Given the description of an element on the screen output the (x, y) to click on. 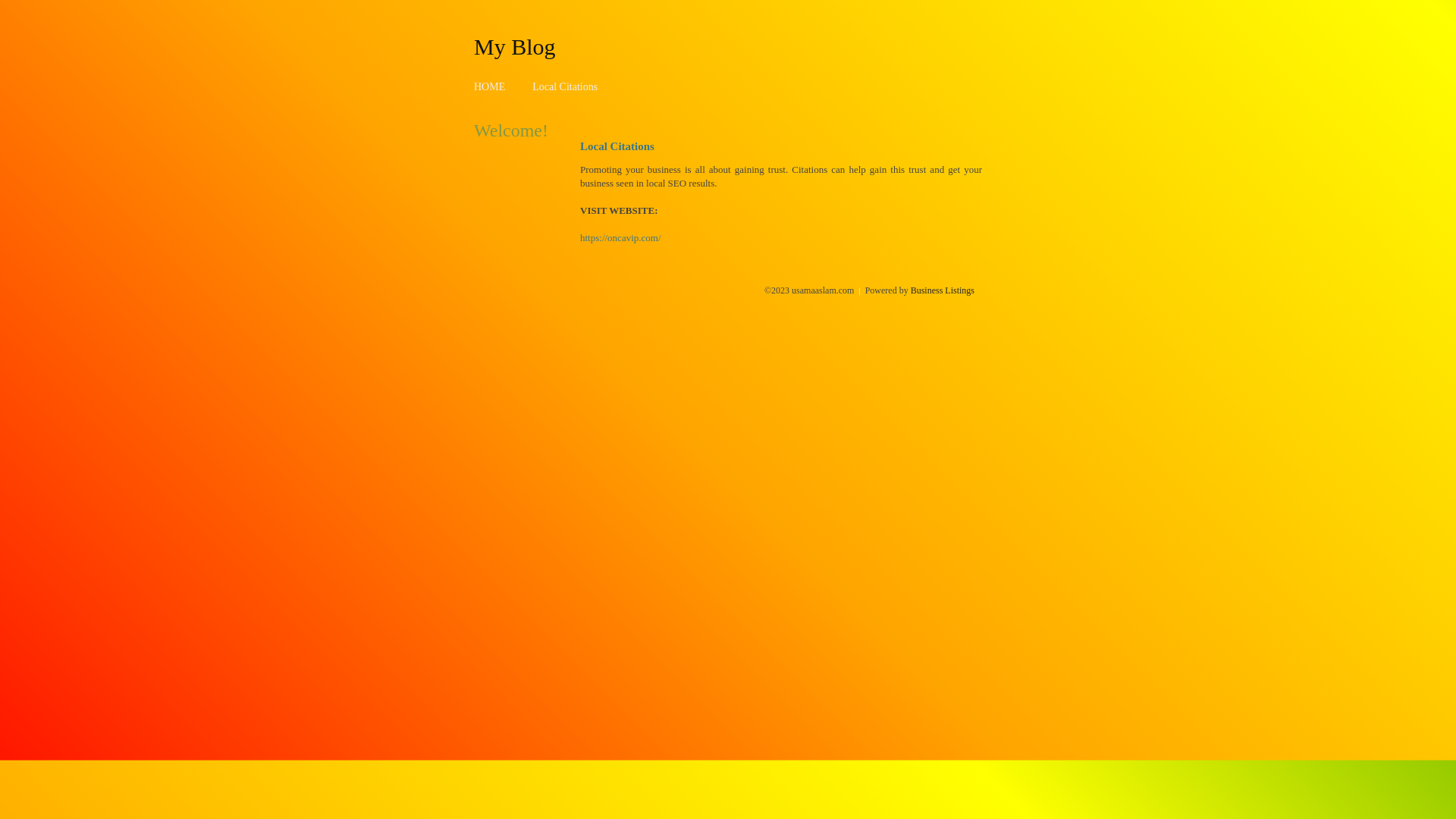
HOME Element type: text (489, 86)
My Blog Element type: text (514, 46)
Local Citations Element type: text (564, 86)
Business Listings Element type: text (942, 290)
https://oncavip.com/ Element type: text (620, 237)
